Given the description of an element on the screen output the (x, y) to click on. 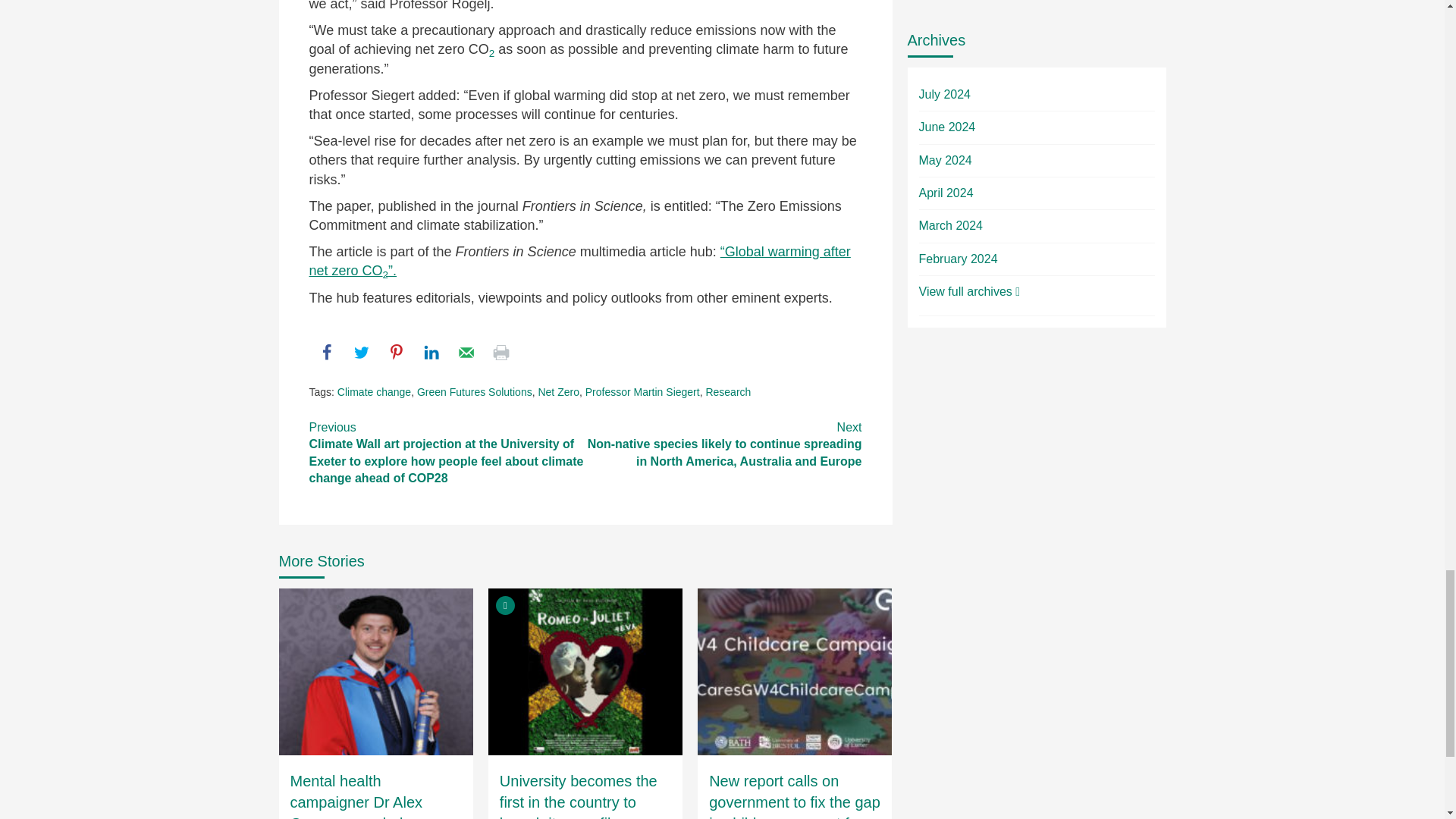
Save to Pinterest (395, 352)
Share on LinkedIn (430, 352)
Share on Twitter (360, 352)
Share on Facebook (325, 352)
Send over email (465, 352)
Print this webpage (500, 352)
